Given the description of an element on the screen output the (x, y) to click on. 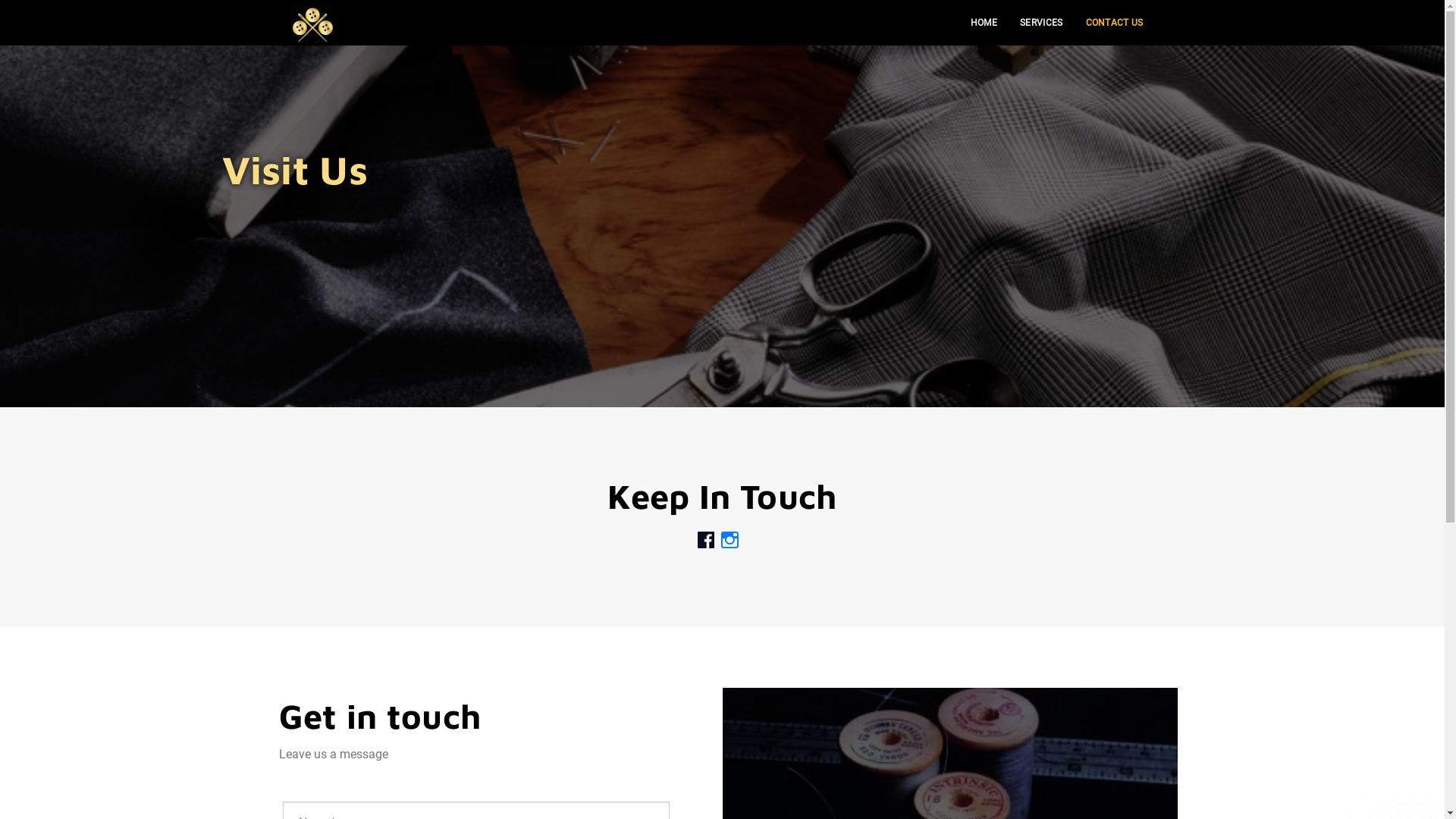
SERVICES Element type: text (1040, 22)
HOME Element type: text (983, 22)
Golden Stitch Element type: hover (310, 23)
CONTACT US Element type: text (1113, 22)
